Given the description of an element on the screen output the (x, y) to click on. 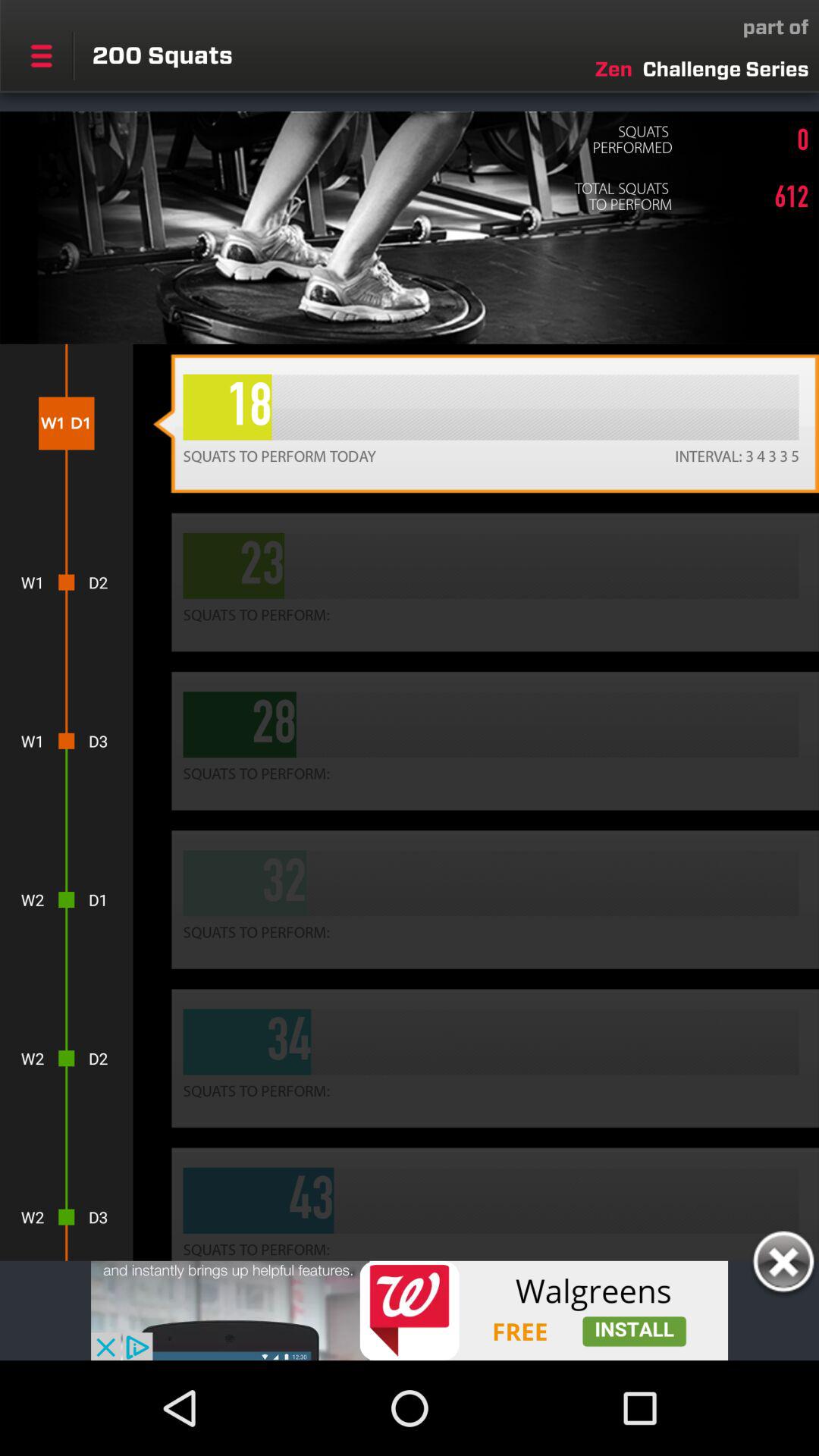
close the file (783, 1264)
